Given the description of an element on the screen output the (x, y) to click on. 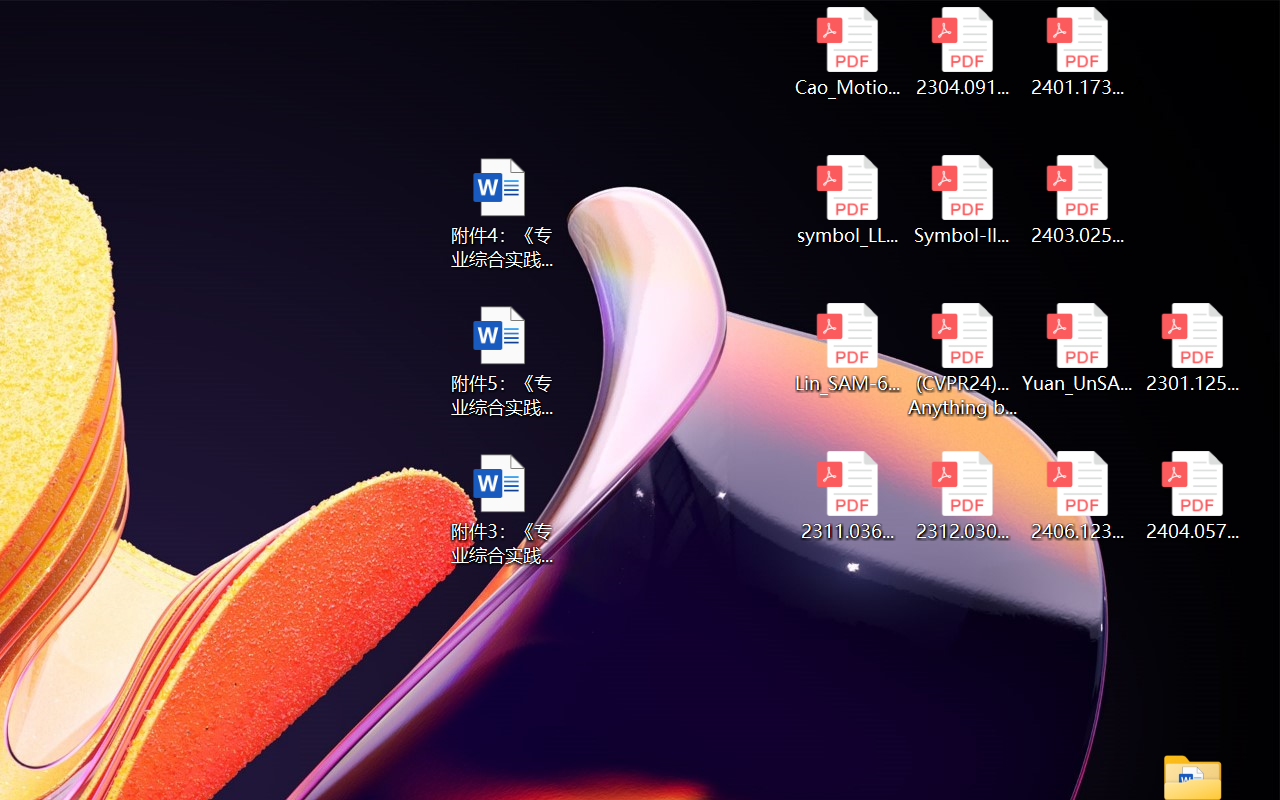
2404.05719v1.pdf (1192, 496)
2401.17399v1.pdf (1077, 52)
2406.12373v2.pdf (1077, 496)
Symbol-llm-v2.pdf (962, 200)
2312.03032v2.pdf (962, 496)
2311.03658v2.pdf (846, 496)
2304.09121v3.pdf (962, 52)
(CVPR24)Matching Anything by Segmenting Anything.pdf (962, 360)
2301.12597v3.pdf (1192, 348)
symbol_LLM.pdf (846, 200)
